Given the description of an element on the screen output the (x, y) to click on. 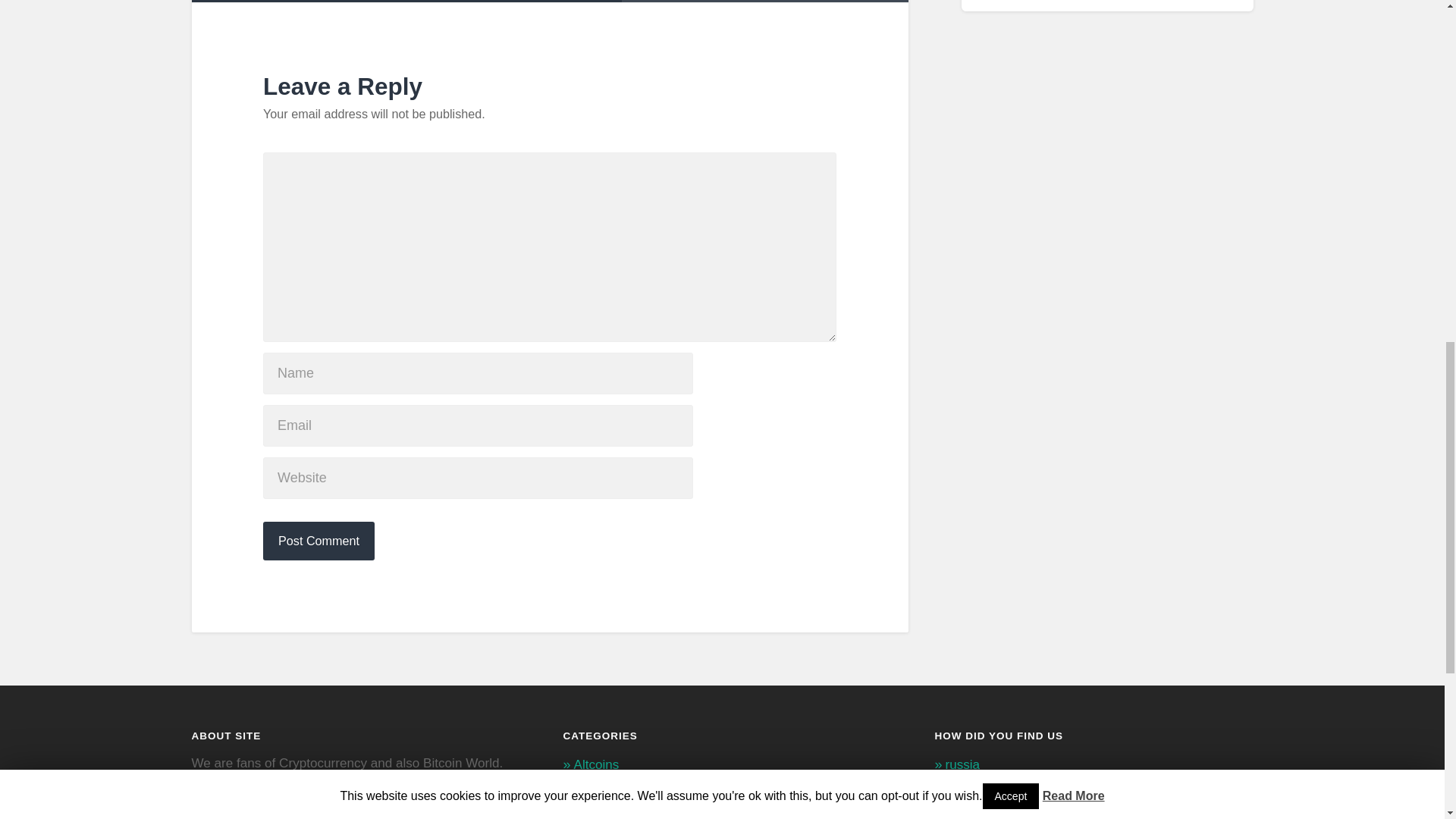
Post Comment (318, 540)
cryptocurrency (986, 814)
russia (961, 764)
Post Comment (318, 540)
Russia AND Ukraine (1003, 789)
